Given the description of an element on the screen output the (x, y) to click on. 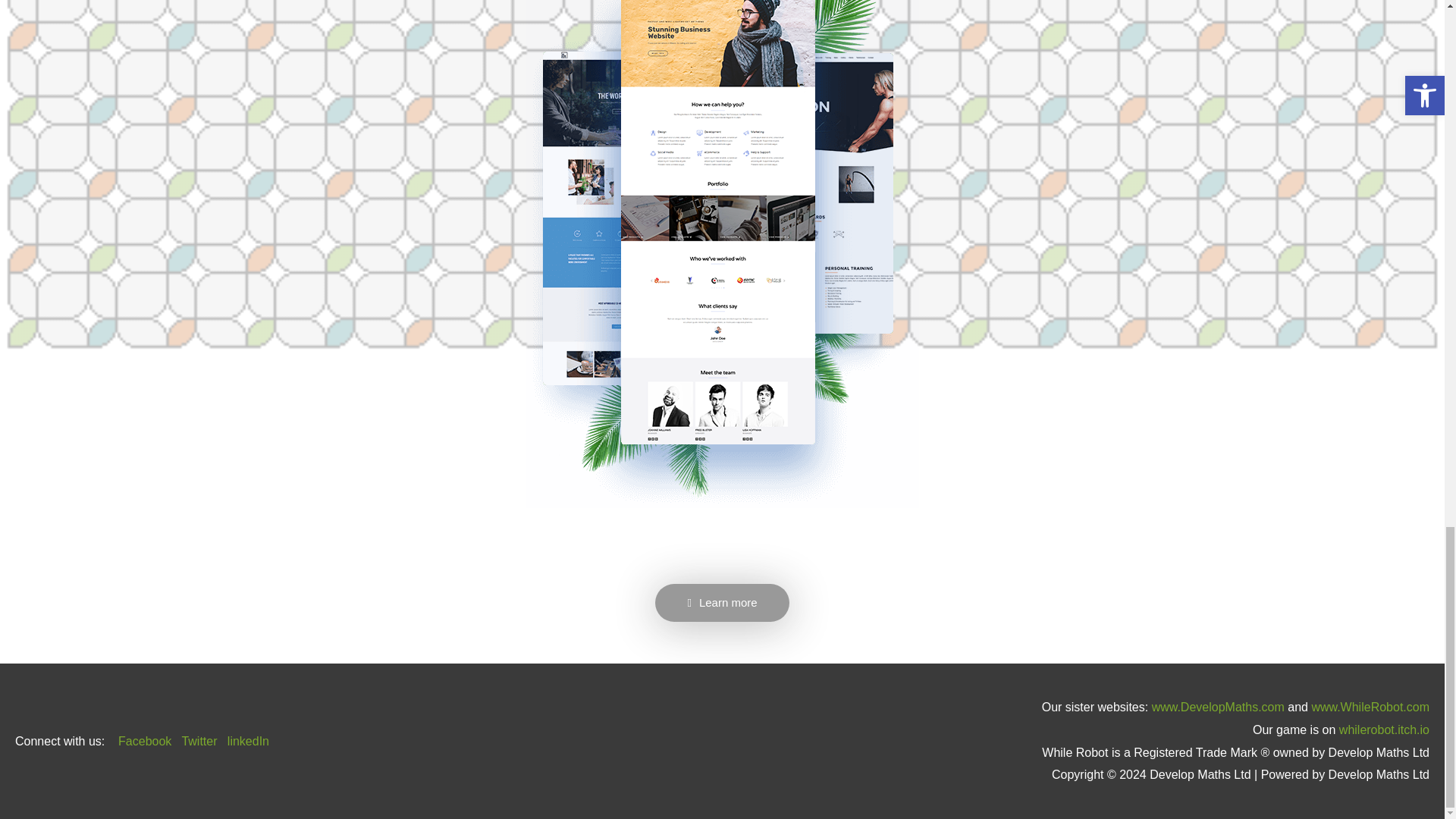
Learn more (722, 602)
www.WhileRobot.com (1370, 707)
Facebook (144, 740)
www.DevelopMaths.com (1217, 707)
whilerobot.itch.io (1384, 729)
linkedIn (248, 740)
Twitter (198, 740)
